Given the description of an element on the screen output the (x, y) to click on. 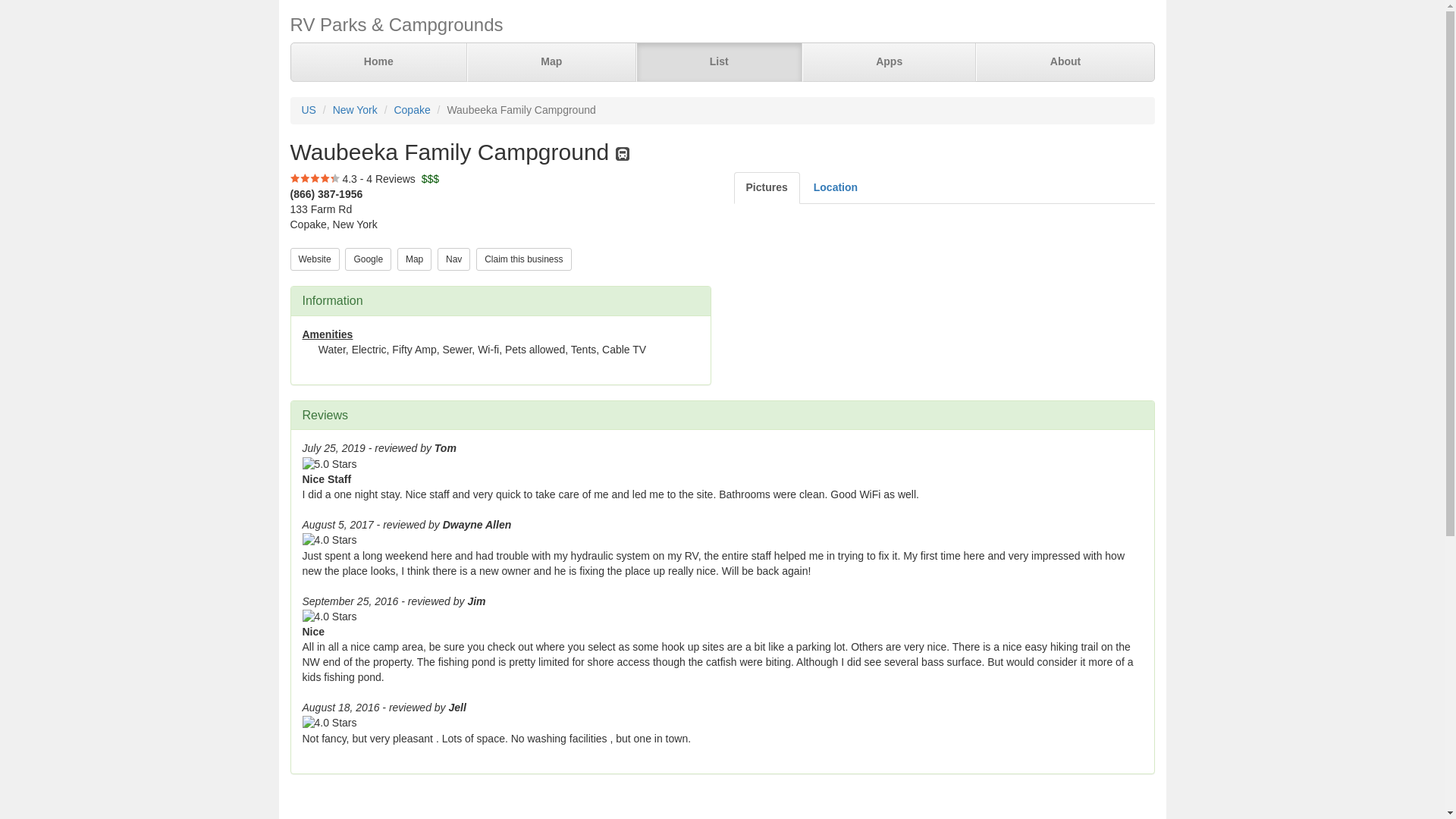
Pictures (766, 187)
Website (314, 258)
List (718, 62)
Nav (454, 258)
Map (413, 258)
Claim this business (523, 259)
Google (368, 258)
US (308, 110)
Website (314, 259)
Nav (454, 259)
